Given the description of an element on the screen output the (x, y) to click on. 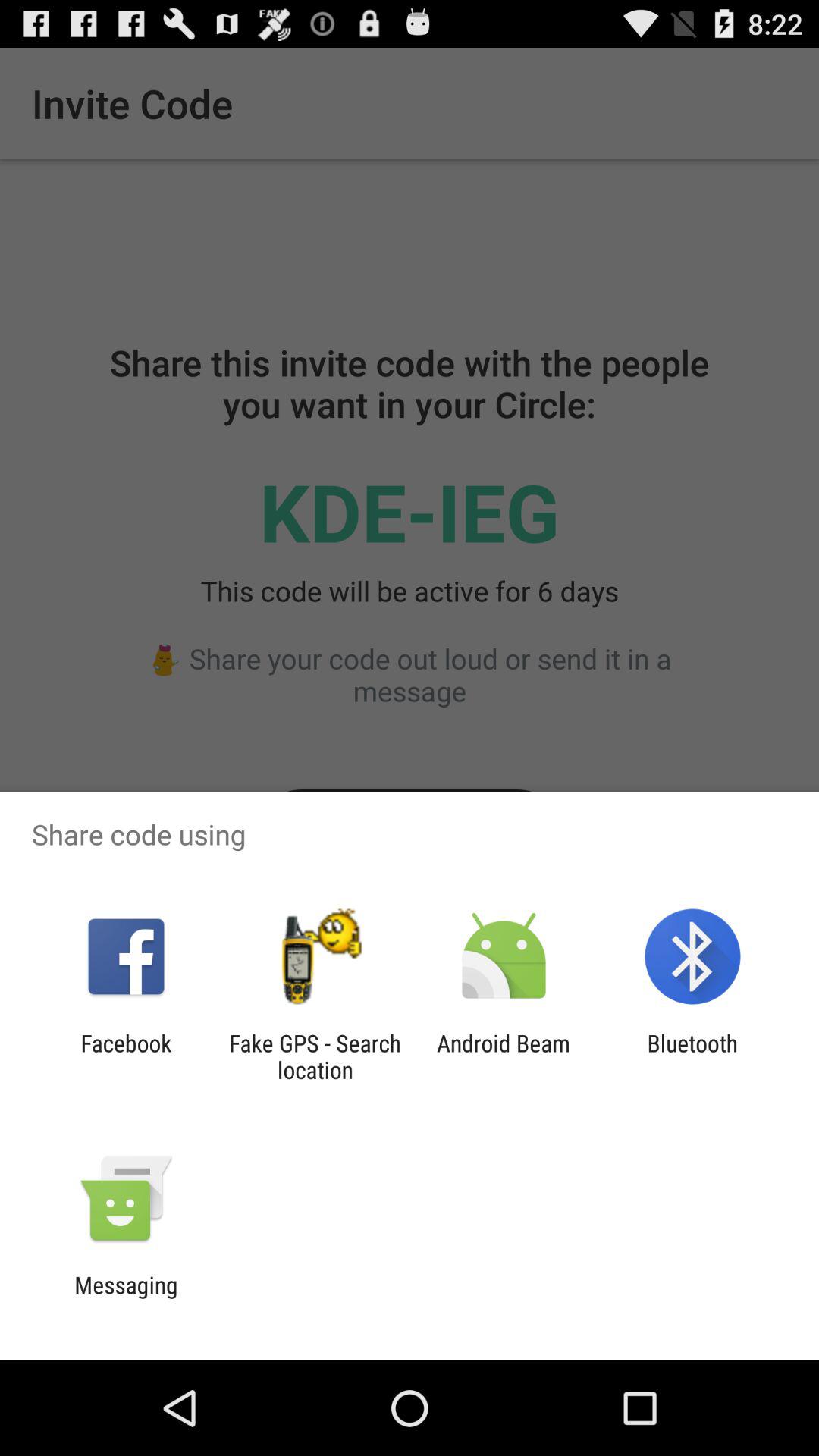
tap bluetooth app (692, 1056)
